Given the description of an element on the screen output the (x, y) to click on. 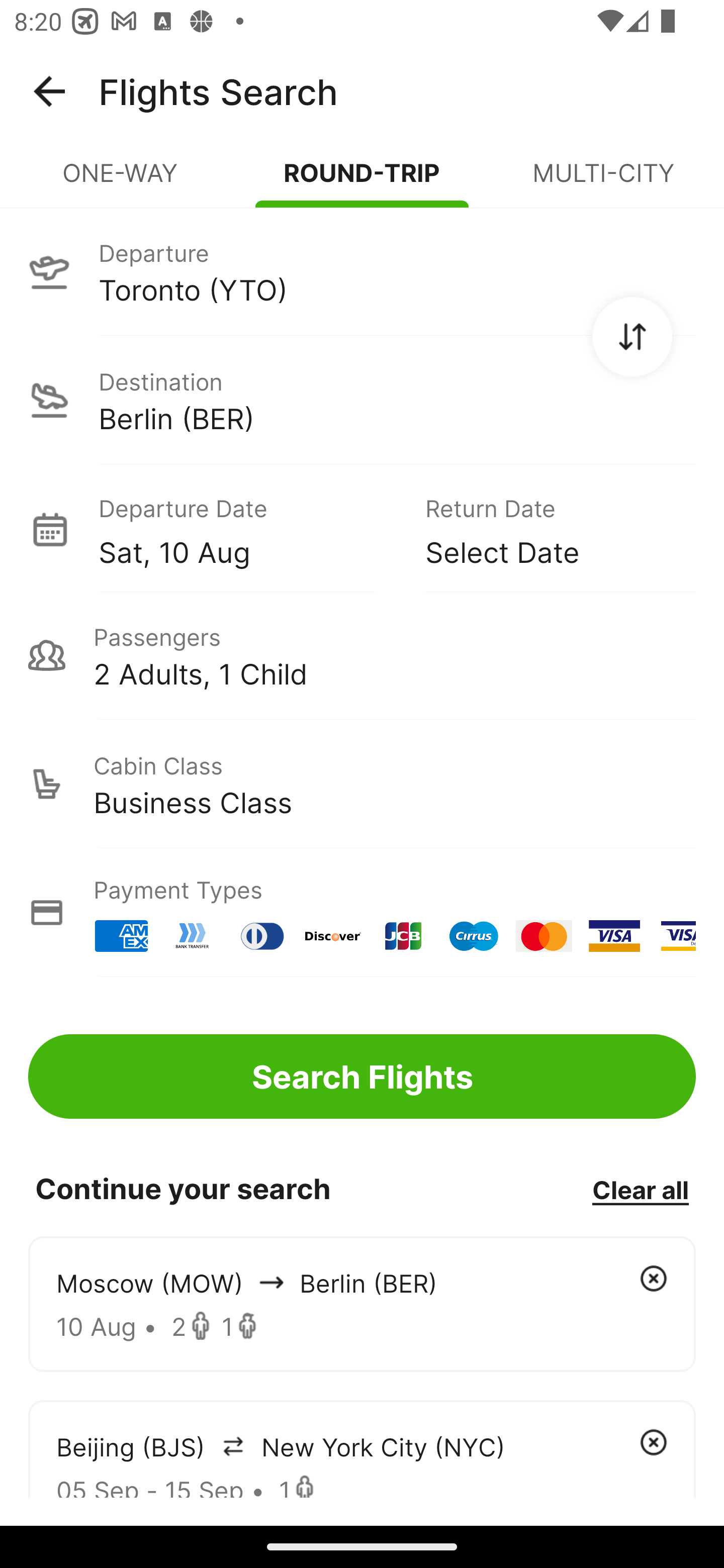
ONE-WAY (120, 180)
ROUND-TRIP (361, 180)
MULTI-CITY (603, 180)
Departure Toronto (YTO) (362, 270)
Destination Berlin (BER) (362, 400)
Departure Date Sat, 10 Aug (247, 528)
Return Date Select Date (546, 528)
Passengers 2 Adults, 1 Child (362, 655)
Cabin Class Business Class (362, 783)
Payment Types (362, 912)
Search Flights (361, 1075)
Clear all (640, 1189)
